Given the description of an element on the screen output the (x, y) to click on. 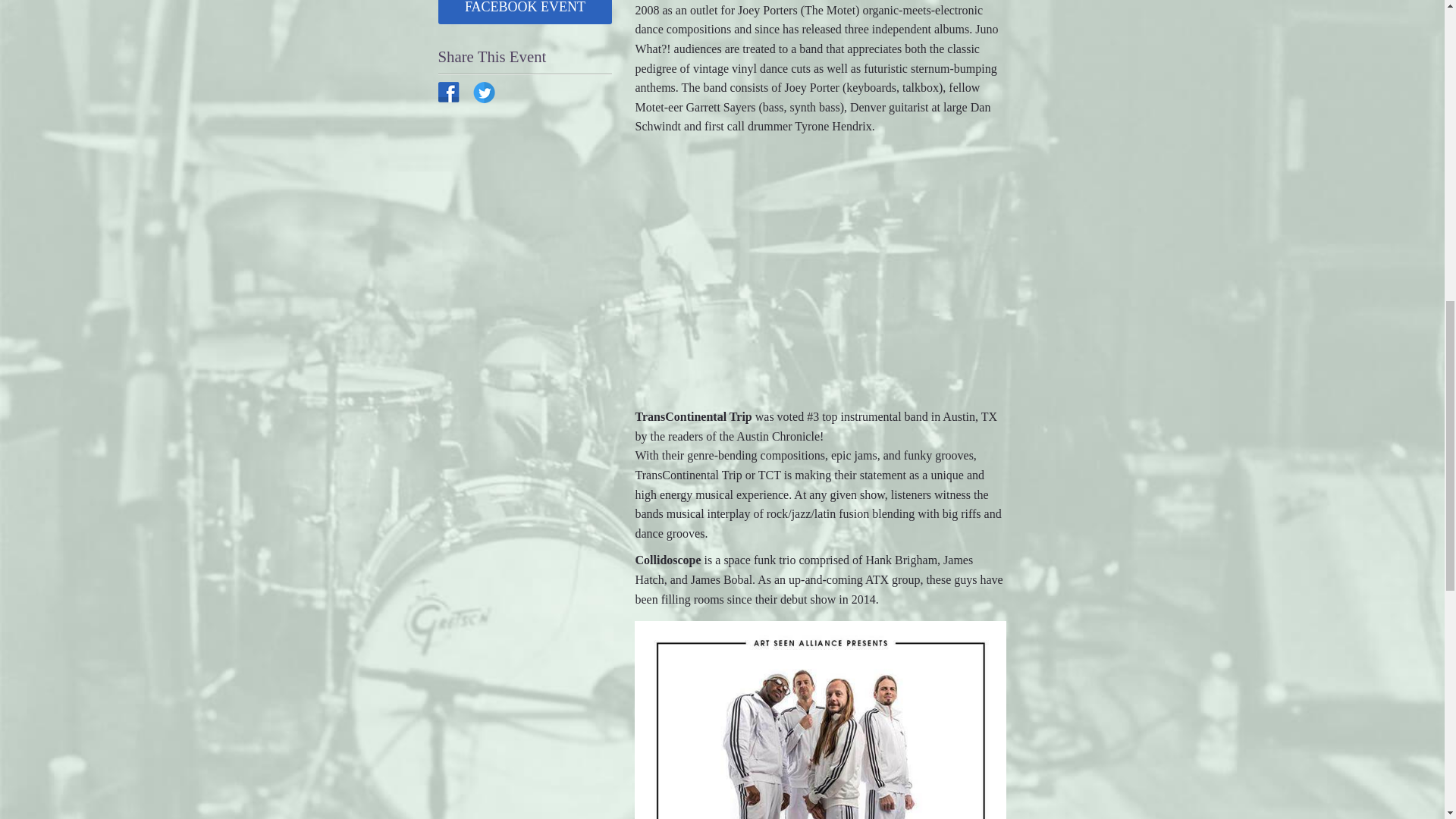
FACEBOOK EVENT (525, 12)
